Given the description of an element on the screen output the (x, y) to click on. 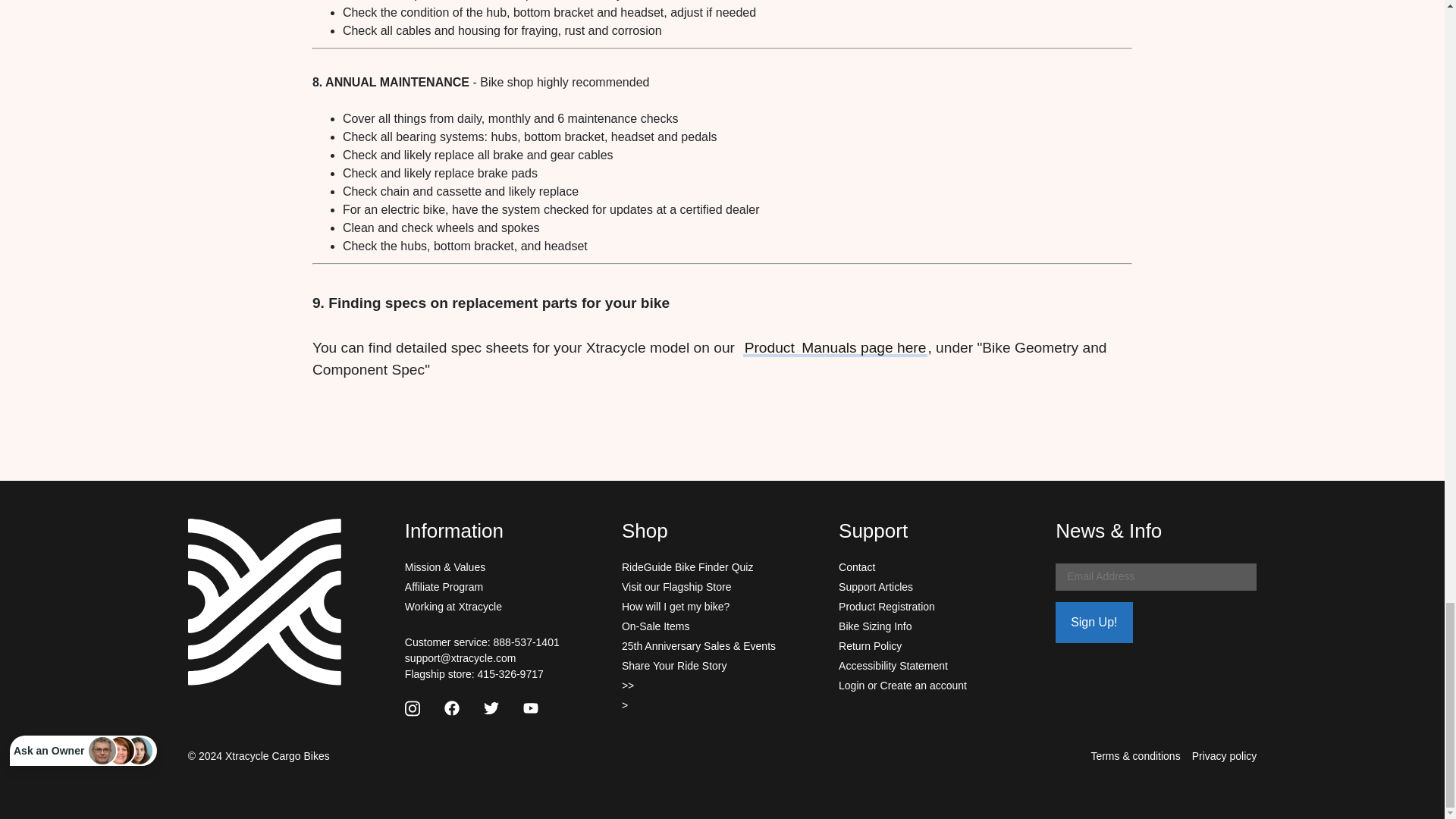
Xtracycle (263, 601)
